Given the description of an element on the screen output the (x, y) to click on. 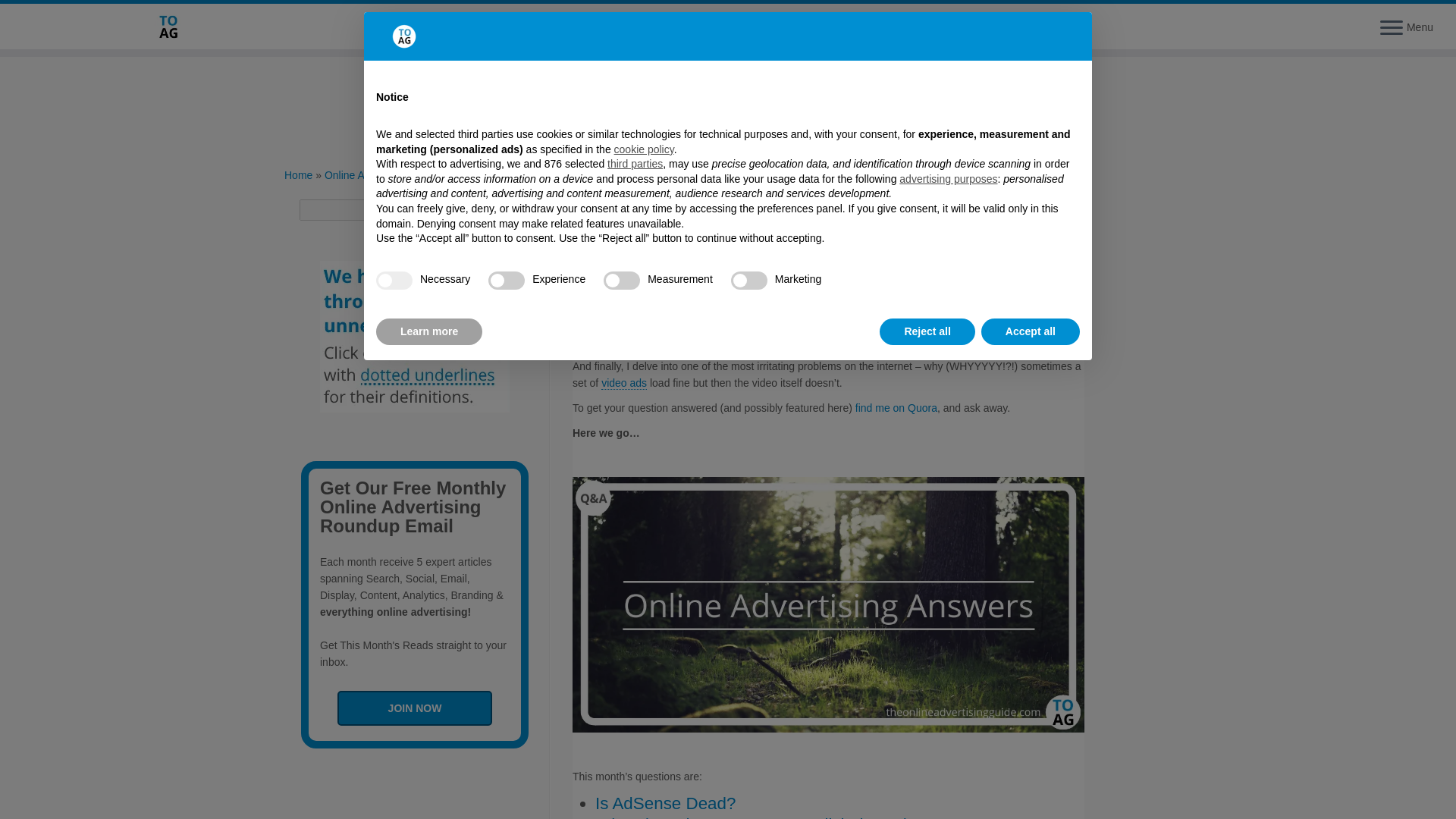
Is AdSense Dead? (665, 803)
find me on Quora (896, 408)
CTR (912, 341)
Online Advertising Answers (723, 267)
Glossary: AdSense (994, 324)
Online Advertising Answers (867, 267)
Open the menu (1391, 28)
false (748, 280)
video ads (623, 382)
Home (298, 174)
Online Advertising Answers (388, 174)
Justin Driskill (965, 267)
Search (481, 210)
Glossary: Video Advertising (623, 382)
View all posts in Online Advertising Answers (867, 267)
